Given the description of an element on the screen output the (x, y) to click on. 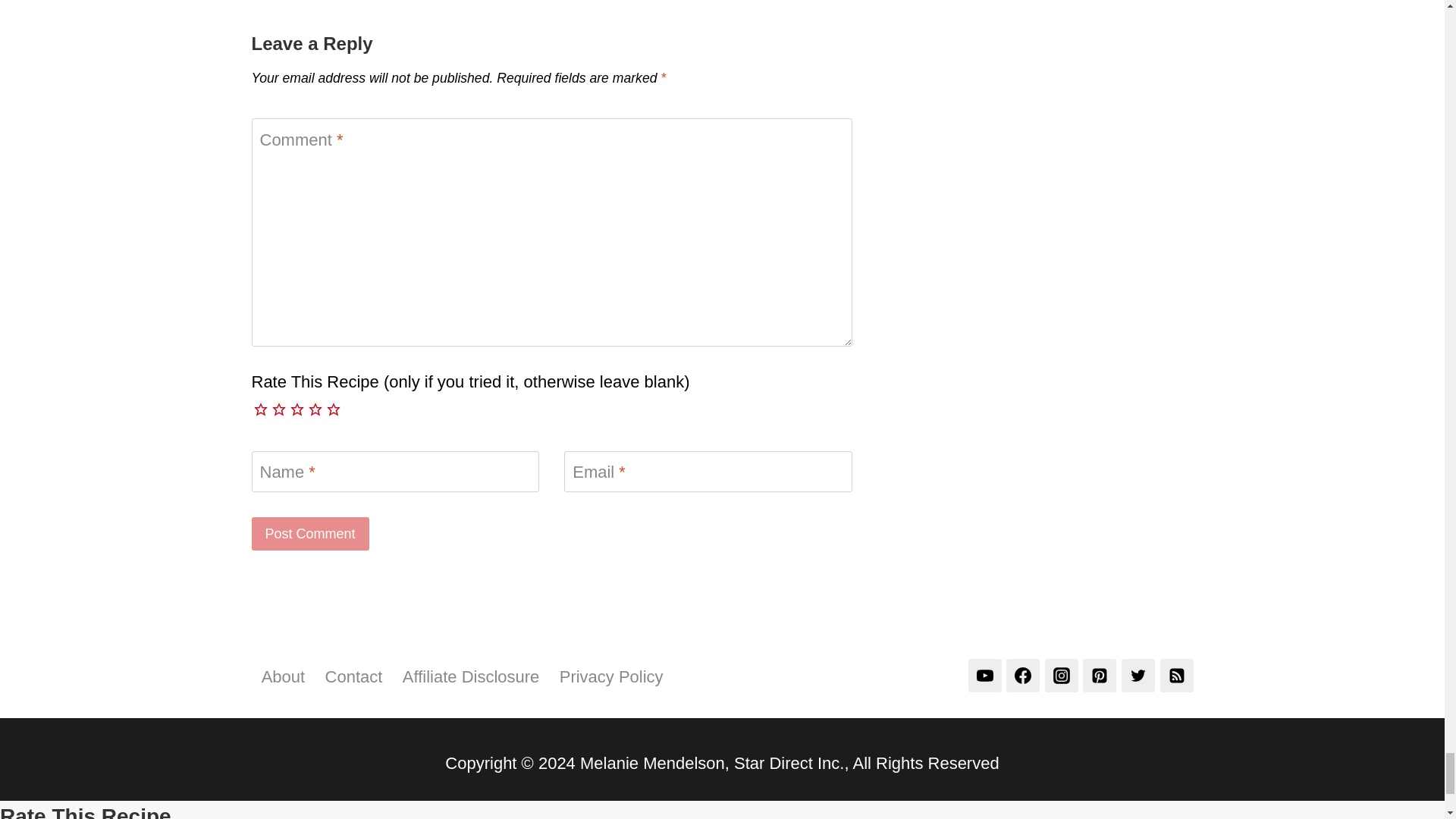
Post Comment (310, 532)
